Given the description of an element on the screen output the (x, y) to click on. 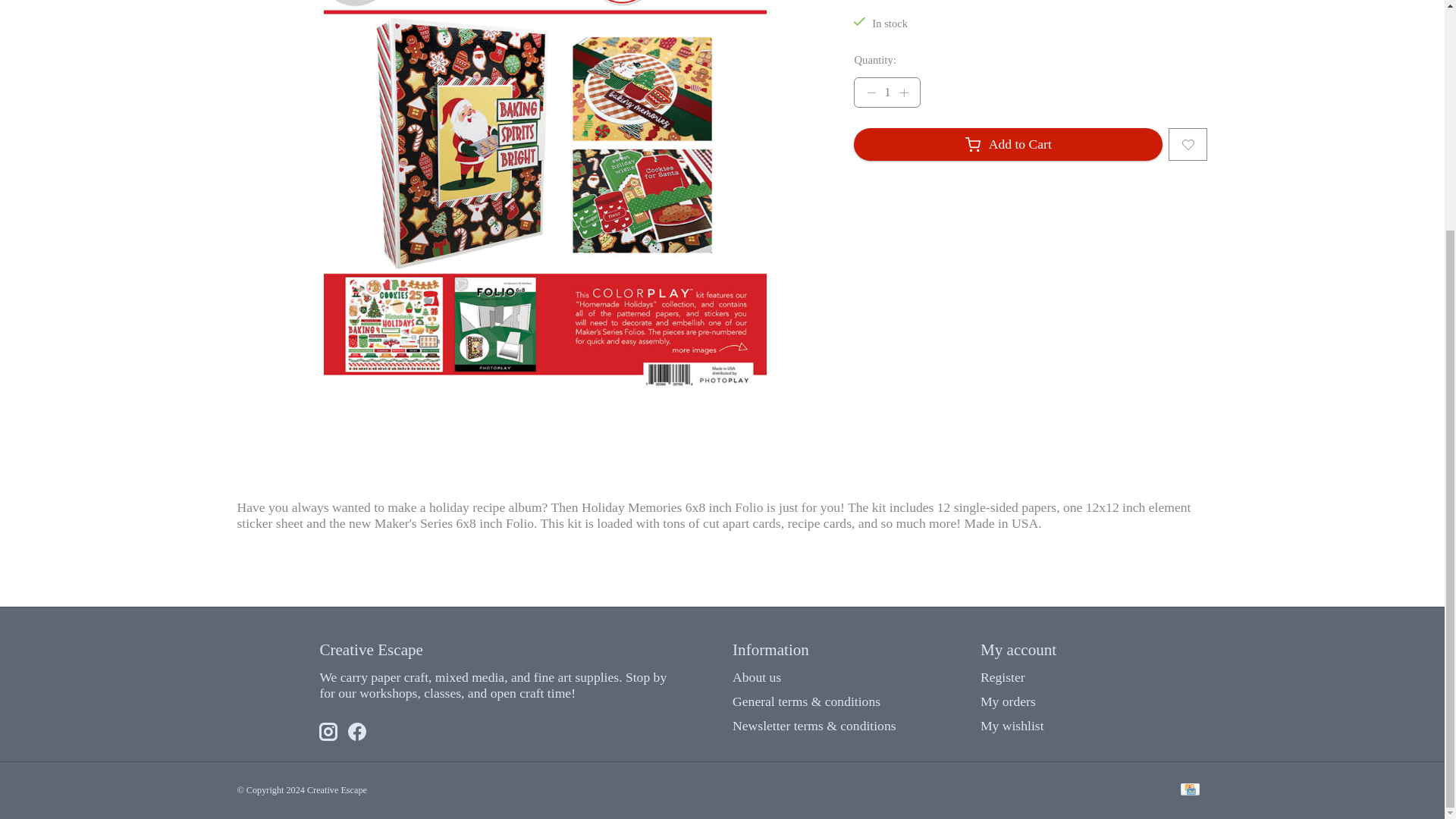
Credit Card (1188, 790)
About us (756, 676)
My orders (1007, 701)
My wishlist (1011, 725)
Add to Cart (1007, 143)
Register (1002, 676)
My orders (1007, 701)
1 (886, 91)
About us (756, 676)
Register (1002, 676)
